Given the description of an element on the screen output the (x, y) to click on. 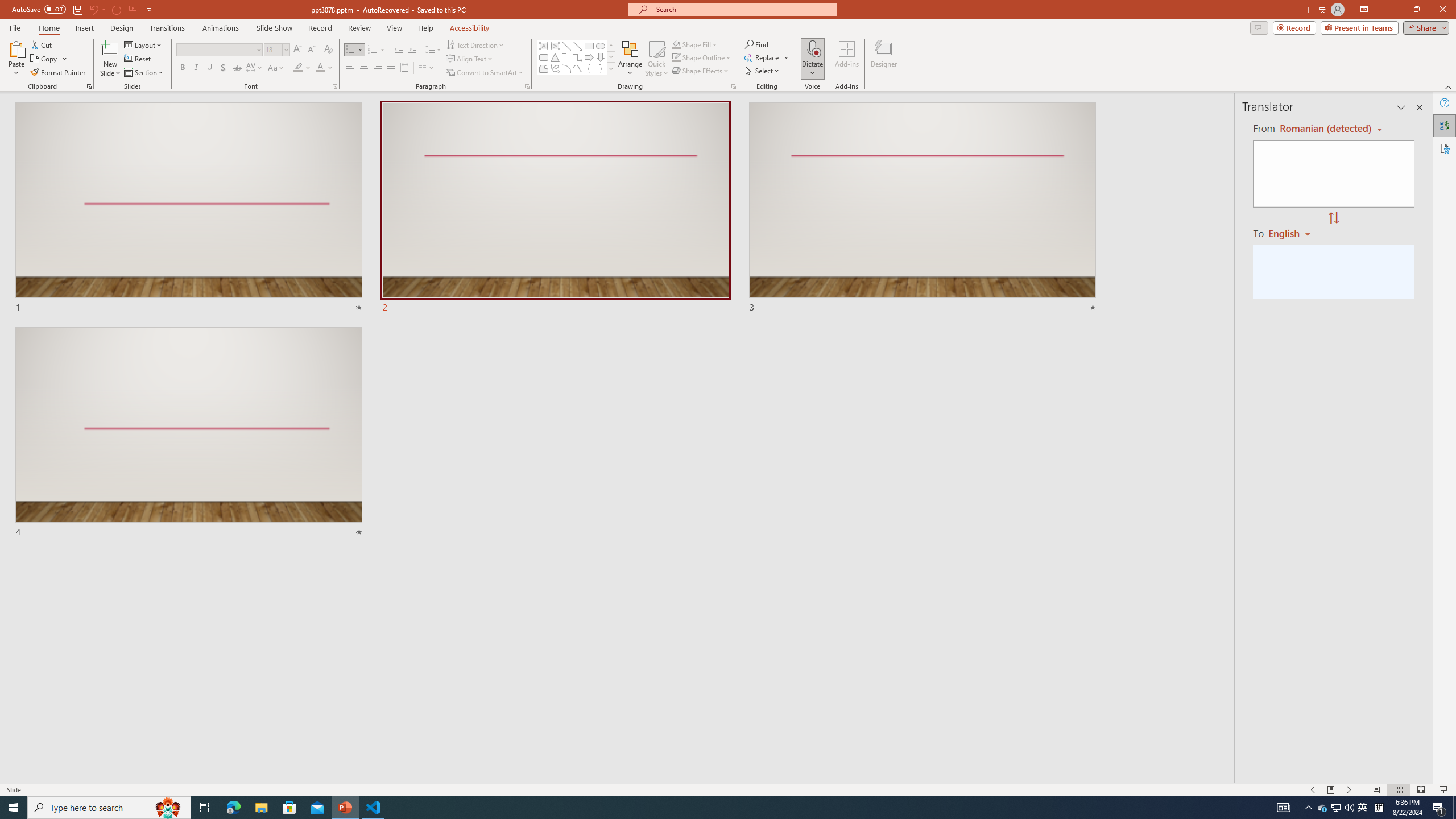
Czech (detected) (1323, 128)
Change Case (276, 67)
Bullets (354, 49)
View (395, 28)
File Tab (15, 27)
Designer (883, 58)
Shape Outline Green, Accent 1 (675, 56)
Isosceles Triangle (554, 57)
Bold (182, 67)
Paste (16, 48)
Home (48, 28)
Cut (42, 44)
Right Brace (600, 68)
